Given the description of an element on the screen output the (x, y) to click on. 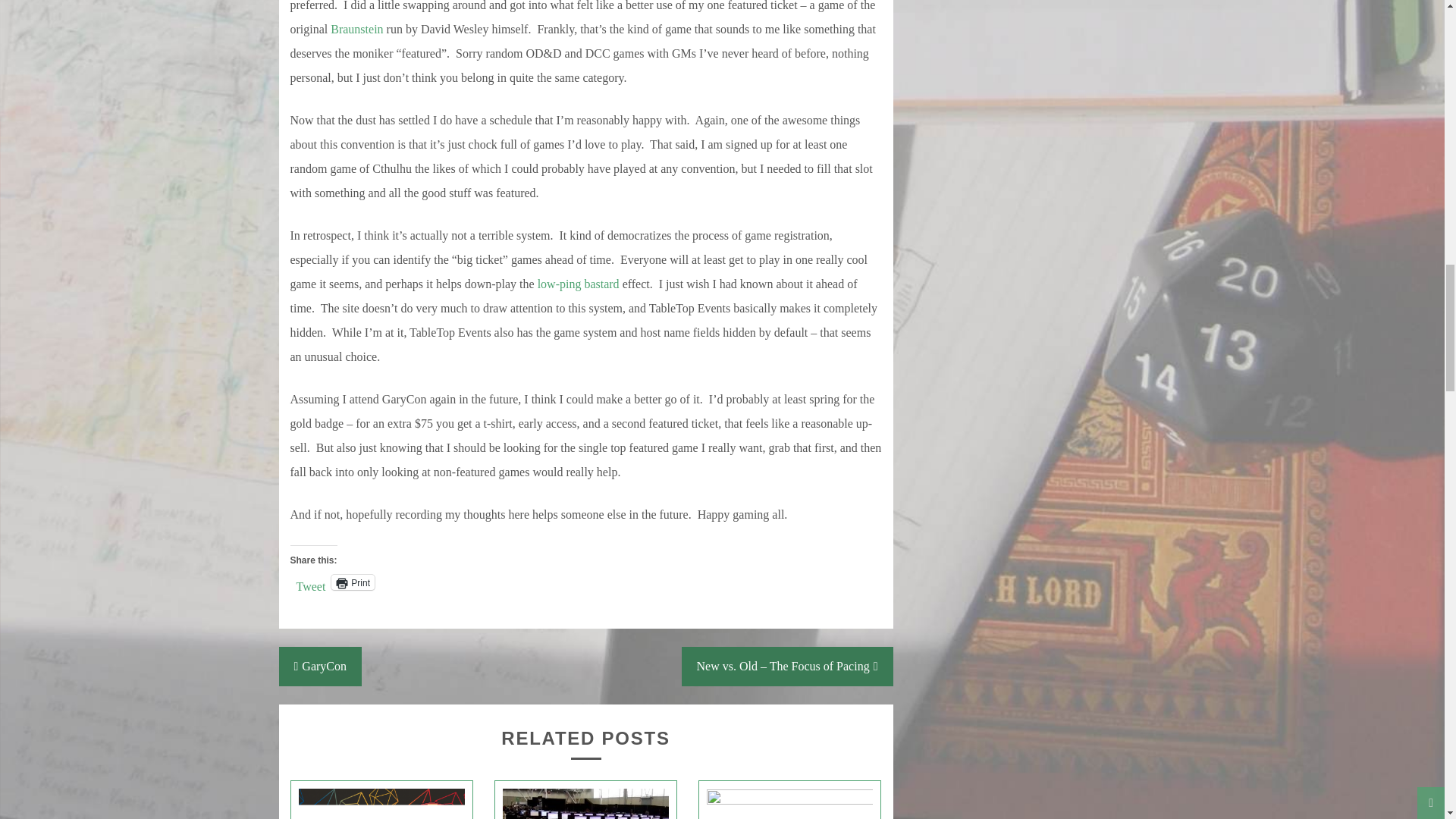
Tweet (309, 581)
Click to print (352, 581)
low-ping bastard (578, 283)
Braunstein (356, 29)
GaryCon (320, 666)
Print (352, 581)
